Given the description of an element on the screen output the (x, y) to click on. 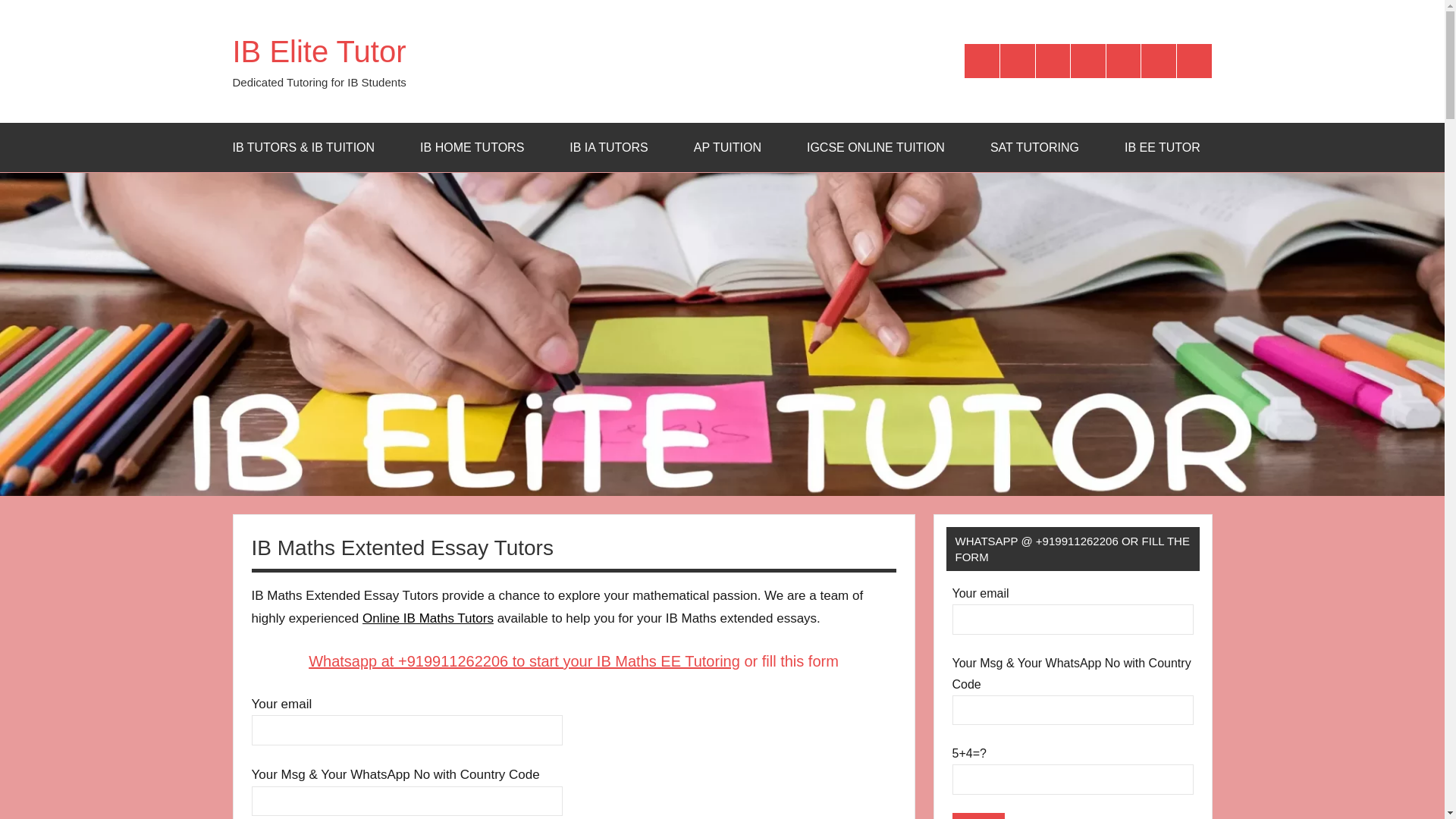
pintrest (1193, 61)
tumblr (1158, 61)
facabook (980, 61)
Linkedin (1123, 61)
Instagram (1017, 61)
twitter (1052, 61)
youtube (1087, 61)
IB Elite Tutor (318, 51)
Send (978, 816)
